Given the description of an element on the screen output the (x, y) to click on. 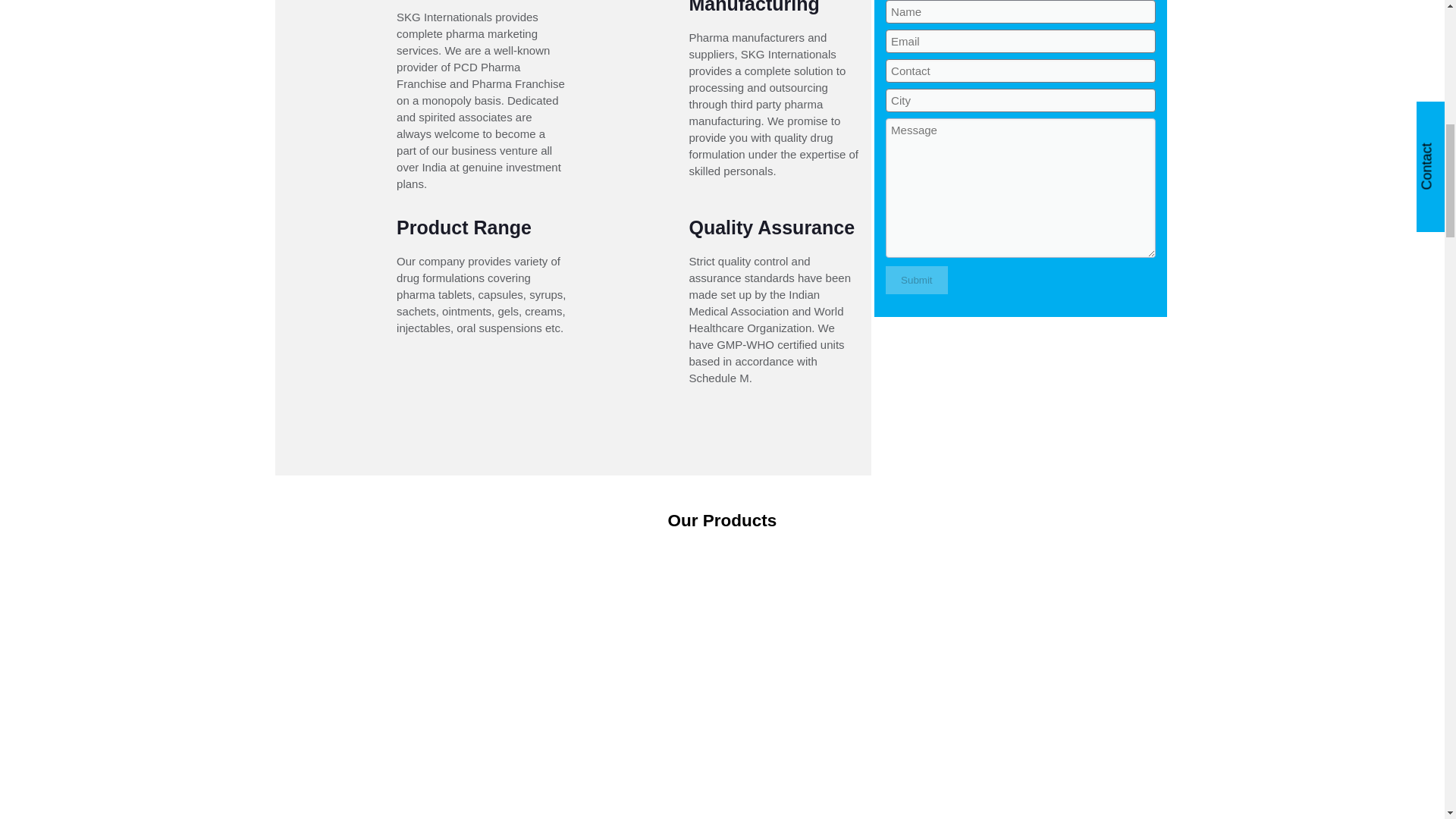
Submit (916, 280)
Submit (916, 280)
